Given the description of an element on the screen output the (x, y) to click on. 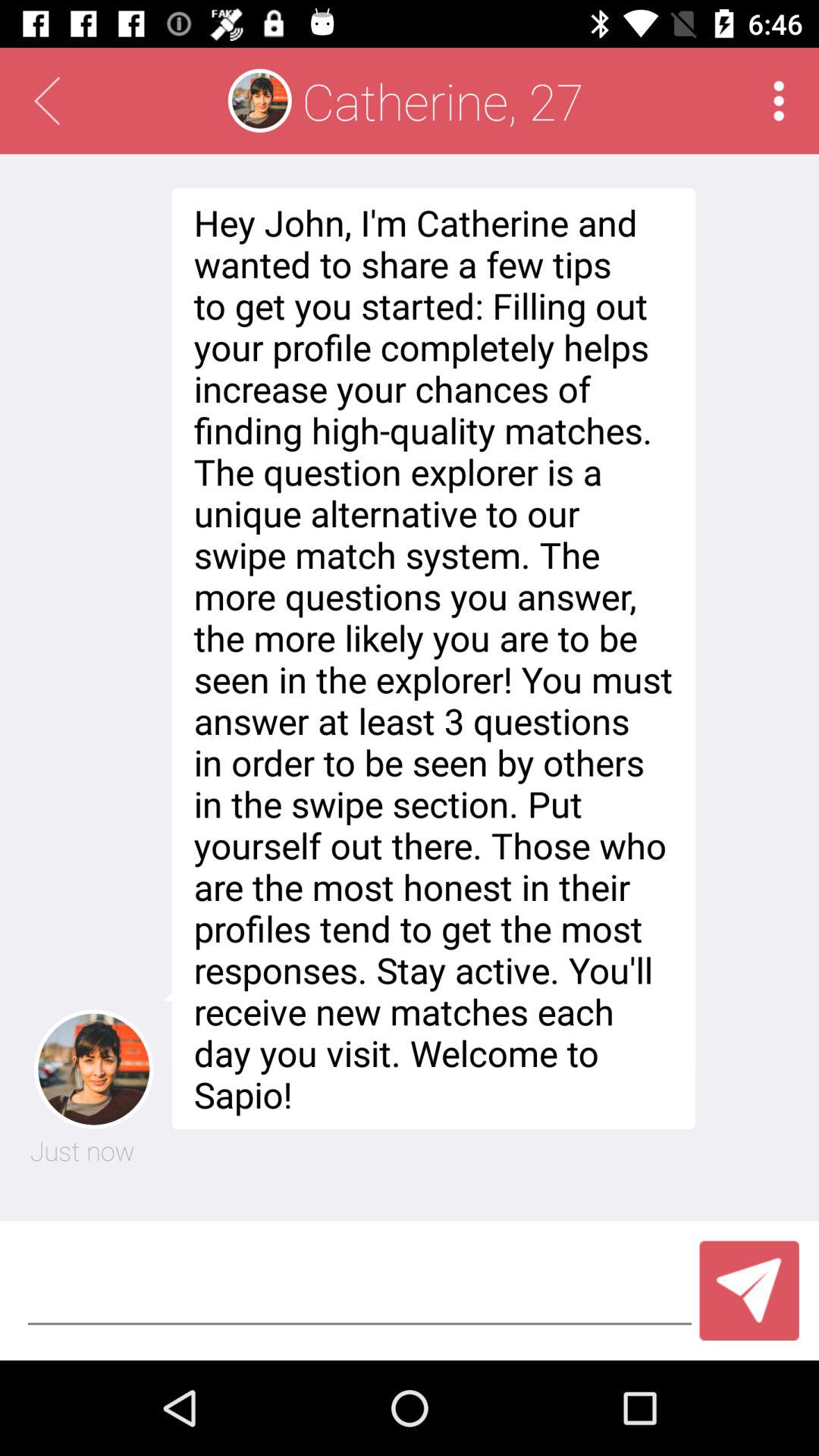
to enable text field (359, 1290)
